Given the description of an element on the screen output the (x, y) to click on. 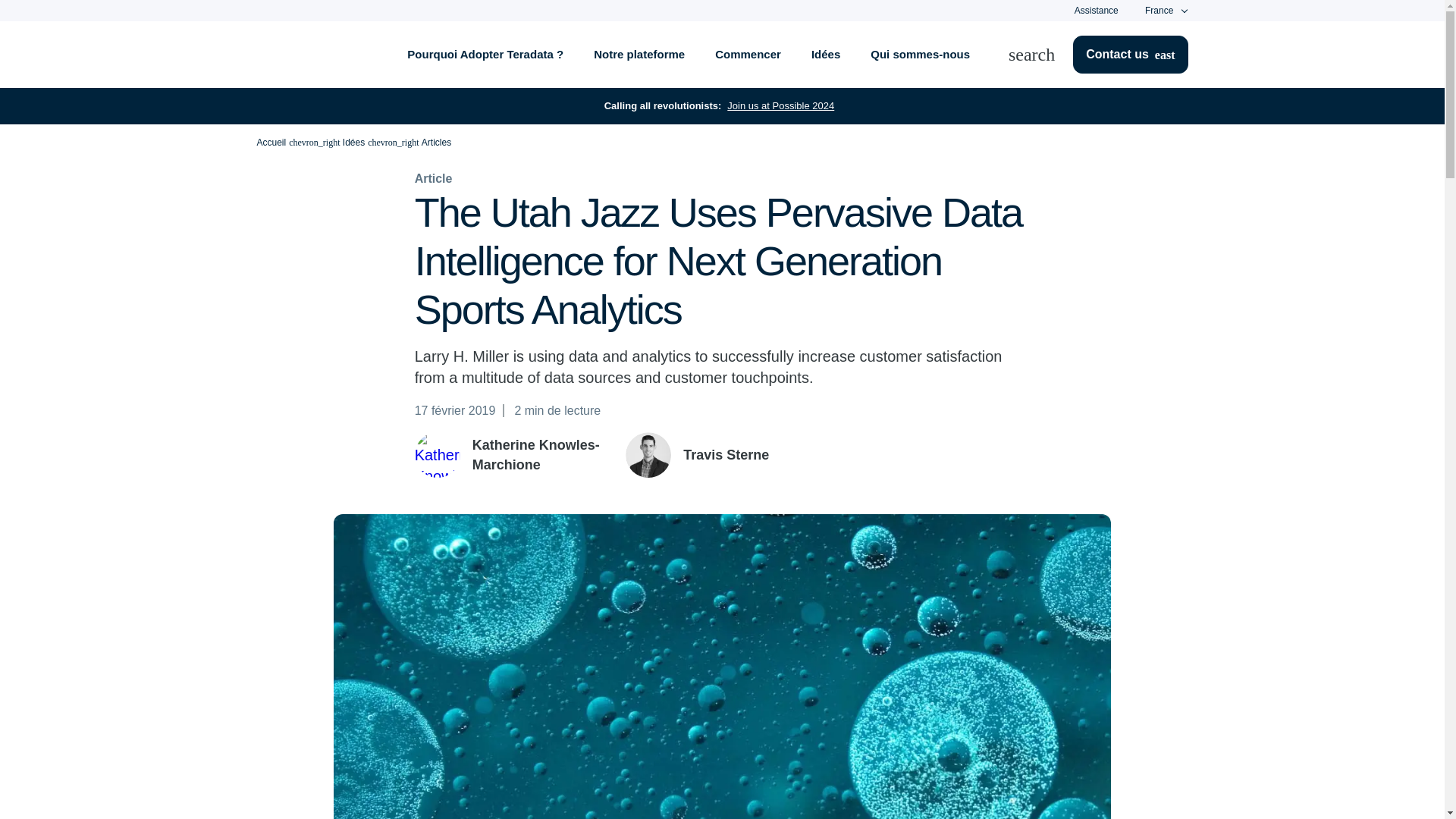
Katherine Knowles-Marchione (437, 454)
Assistance (1096, 9)
Notre plateforme (639, 54)
Contact us (1130, 54)
Travis Sterne (648, 454)
Commencer (748, 54)
Qui sommes-nous (920, 54)
France (1159, 10)
Pourquoi Adopter Teradata ? (484, 54)
search (1041, 54)
